Given the description of an element on the screen output the (x, y) to click on. 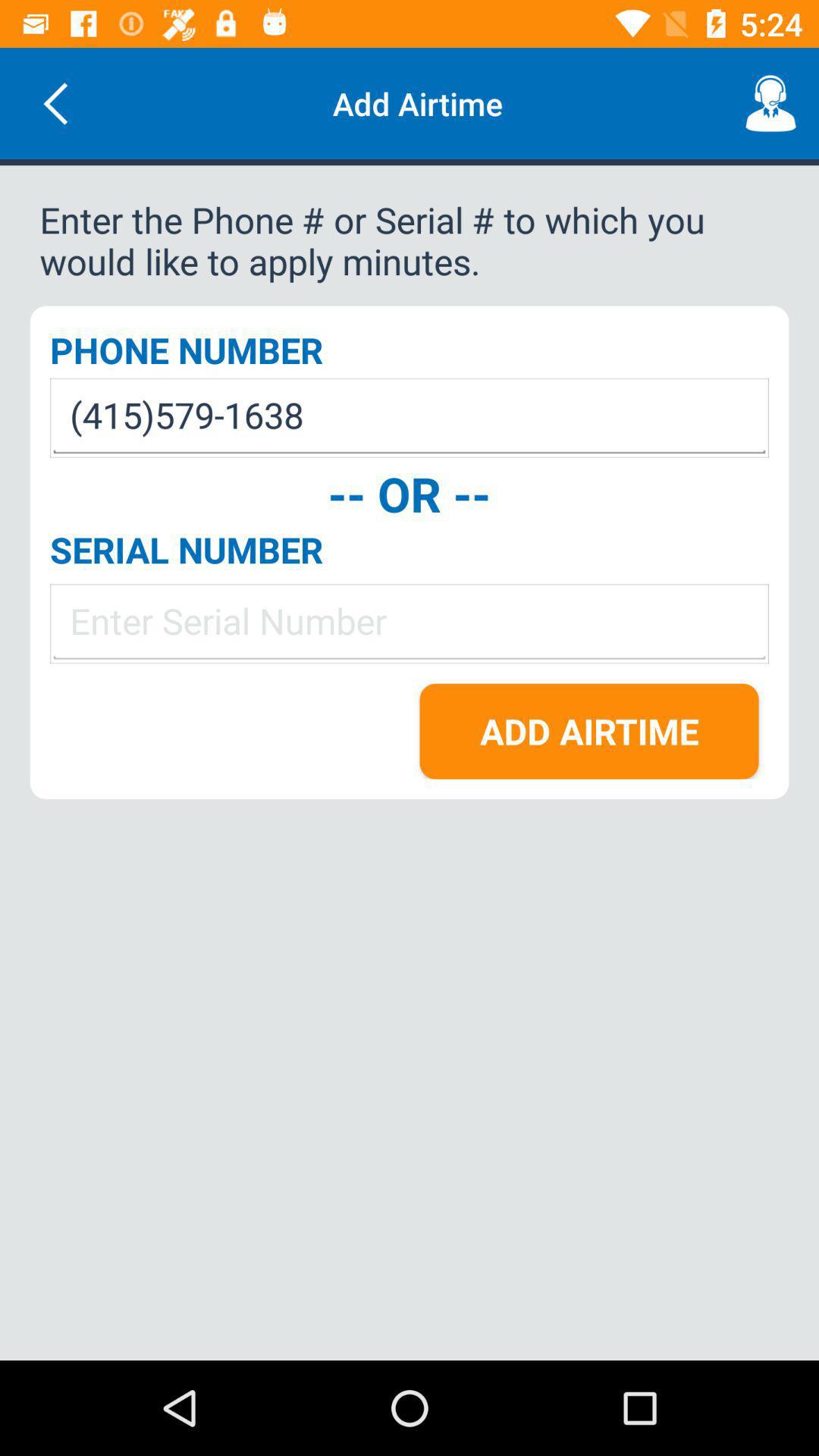
choose the item to the left of the add airtime (55, 103)
